Given the description of an element on the screen output the (x, y) to click on. 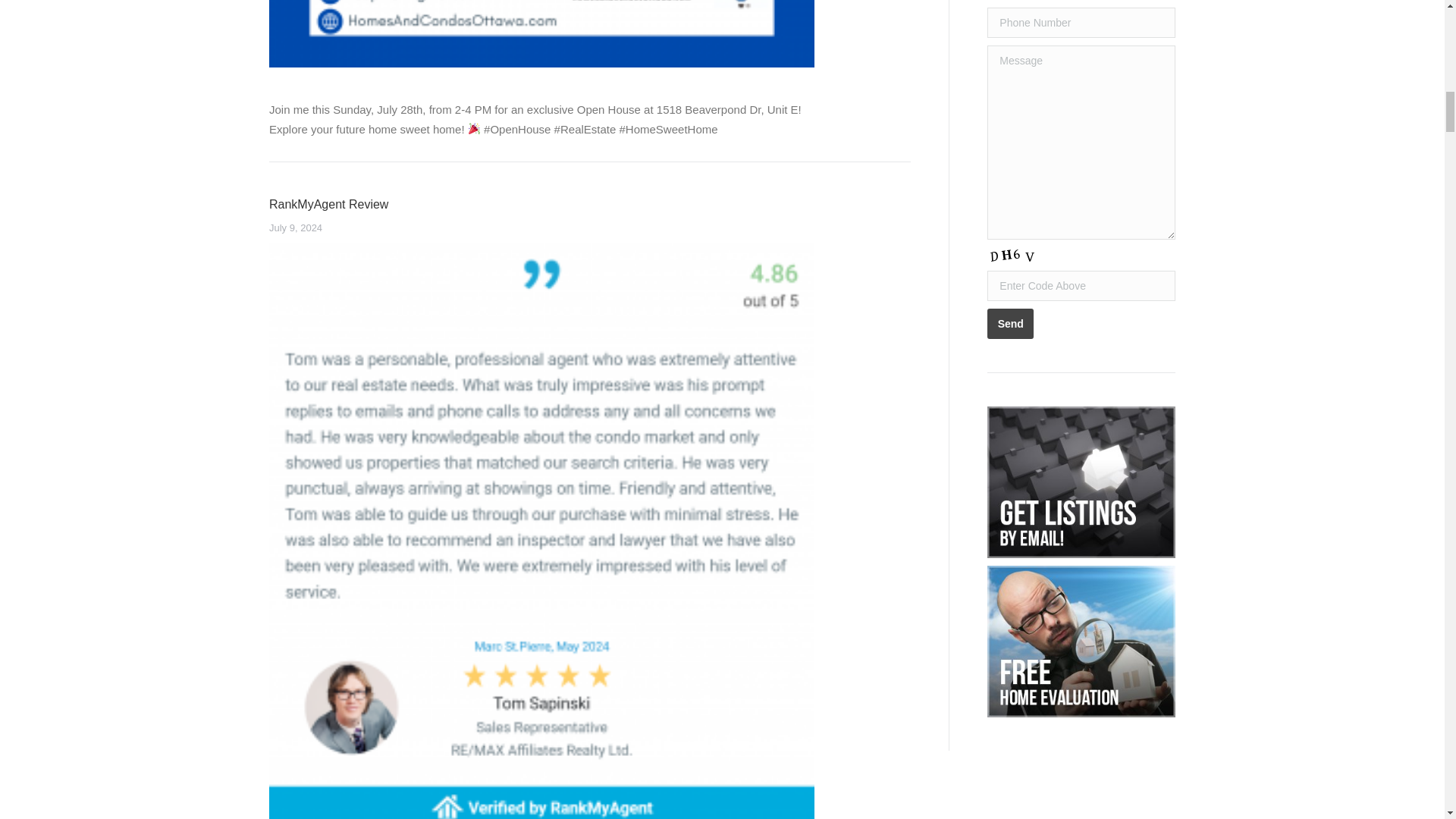
Send (1010, 323)
RankMyAgent Review (328, 203)
1:23 pm (295, 227)
